Given the description of an element on the screen output the (x, y) to click on. 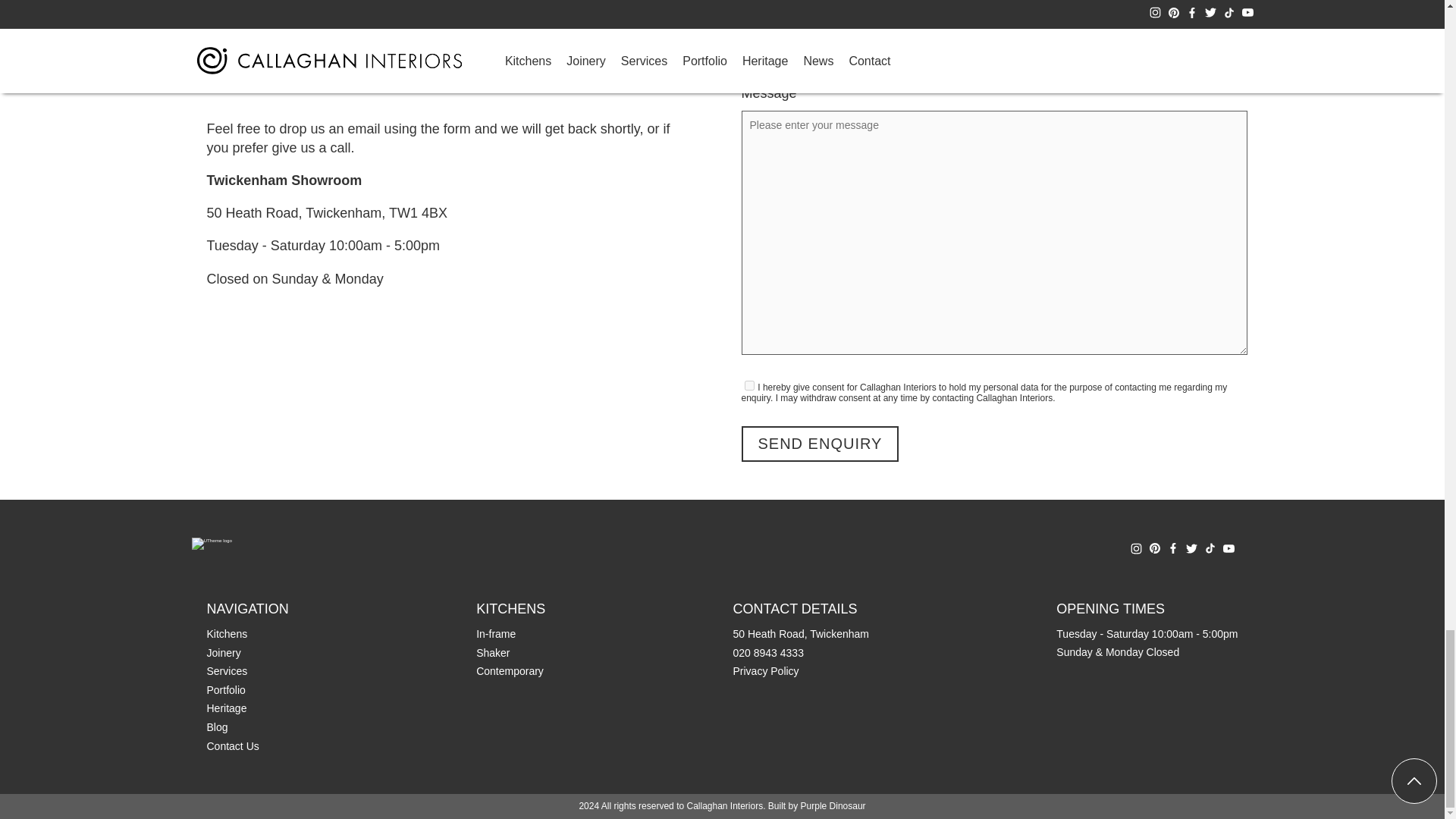
true (749, 385)
020 8943 4333 (251, 24)
Send enquiry (820, 443)
